Given the description of an element on the screen output the (x, y) to click on. 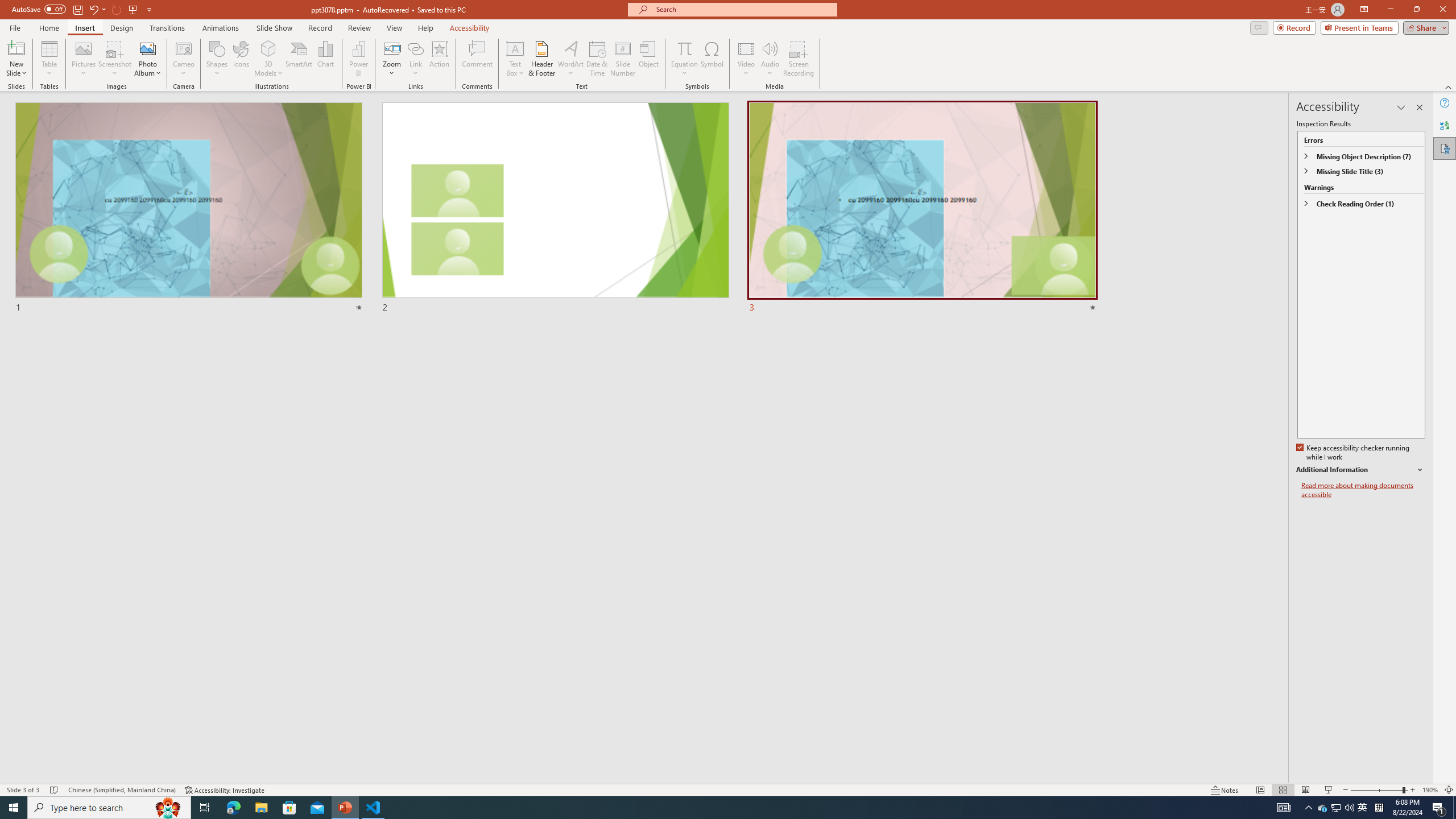
Equation (683, 58)
Draw Horizontal Text Box (515, 48)
Comment (476, 58)
Zoom 190% (1430, 790)
New Photo Album... (147, 48)
